Given the description of an element on the screen output the (x, y) to click on. 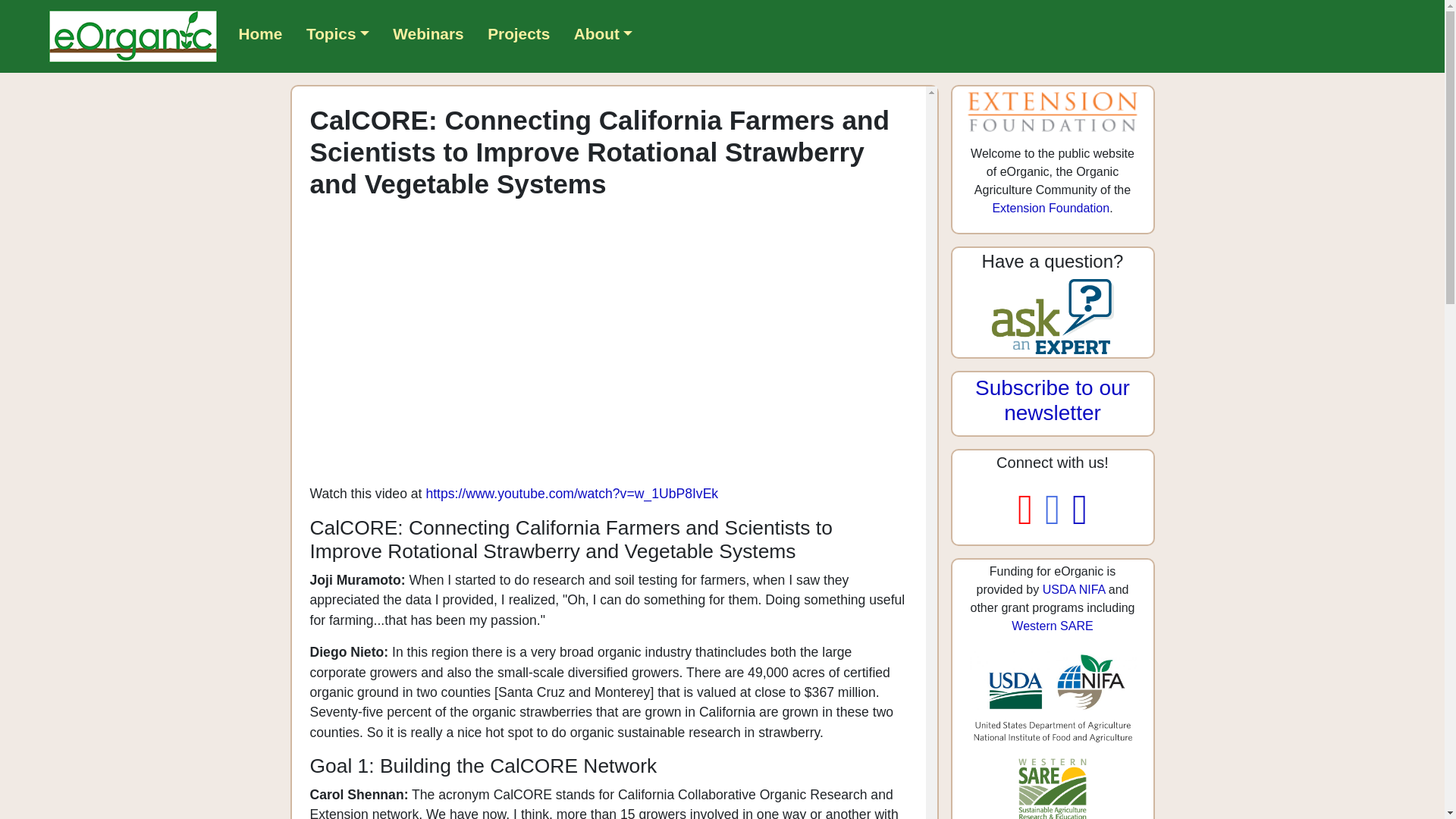
Soil and Fertility Management (884, 141)
Seeds and Seed Production (698, 141)
Leadership Team (151, 230)
Plant Breeding (140, 141)
Poultry Production (429, 123)
Topics (69, 105)
Certification (900, 123)
Dairy Production (90, 123)
Vegetable Production (560, 123)
Cover Cropping (995, 123)
